Given the description of an element on the screen output the (x, y) to click on. 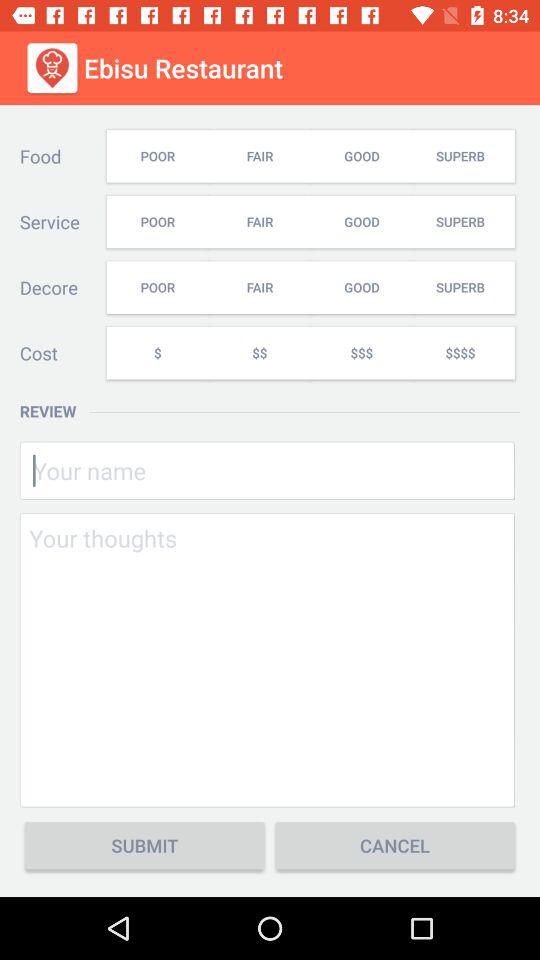
turn on the $ icon (157, 352)
